Given the description of an element on the screen output the (x, y) to click on. 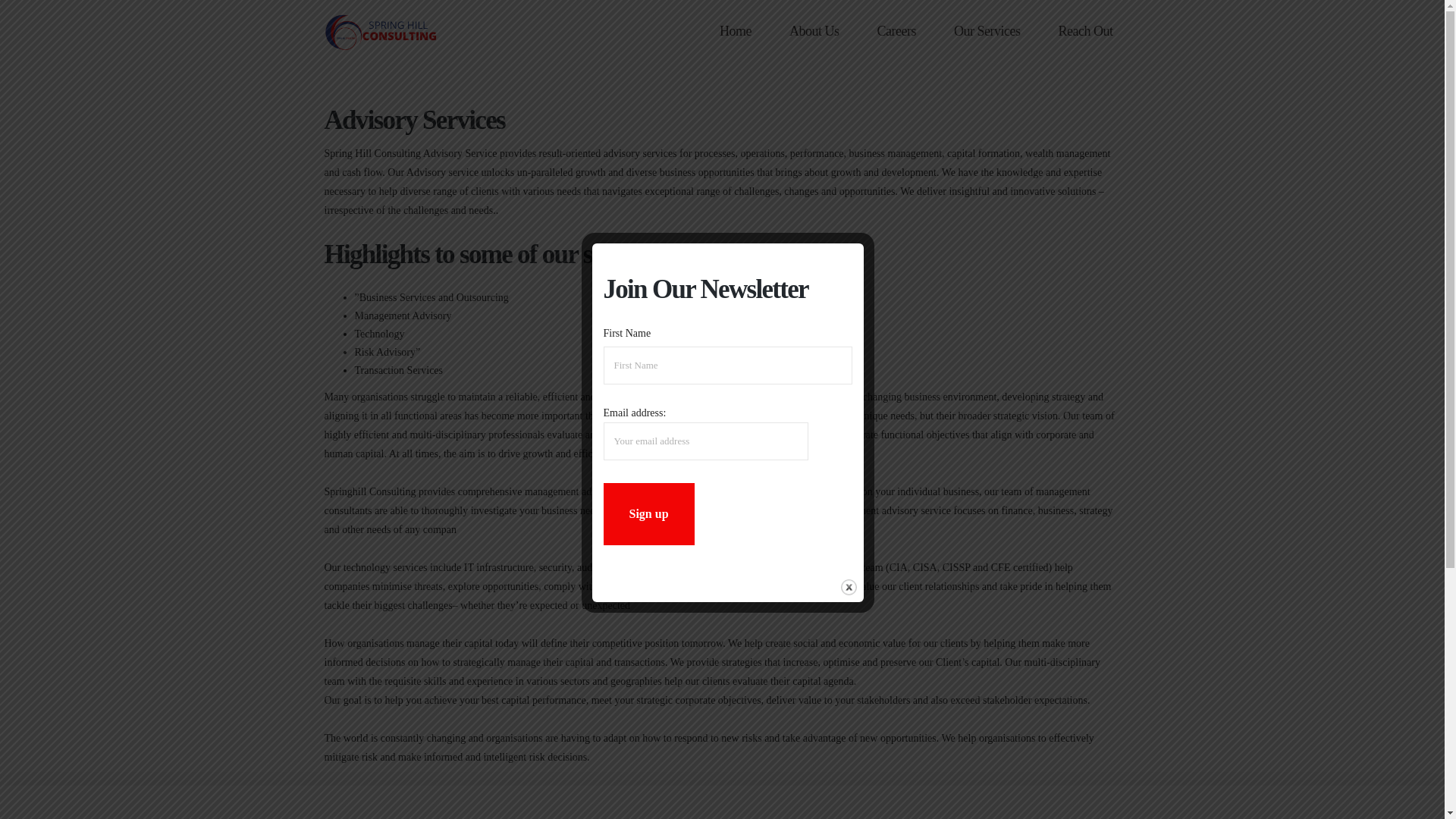
Sign up (649, 514)
Our Services (986, 31)
Home (735, 31)
About Us (814, 31)
Sign up (649, 514)
Careers (896, 31)
Close (849, 587)
Reach Out (1085, 31)
